Given the description of an element on the screen output the (x, y) to click on. 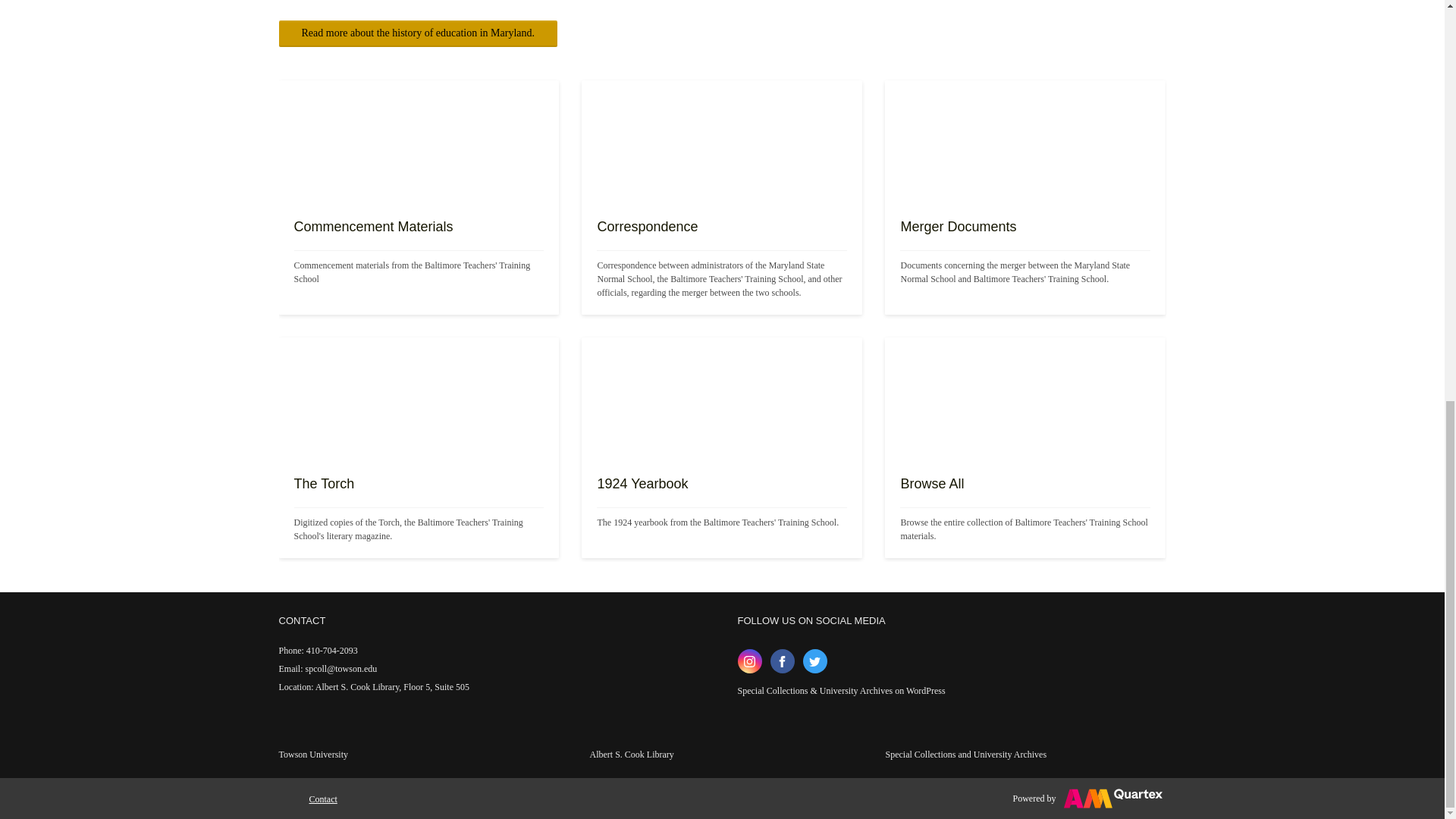
instagram (748, 661)
twitter (814, 661)
Contact (322, 798)
facebook (782, 661)
